Given the description of an element on the screen output the (x, y) to click on. 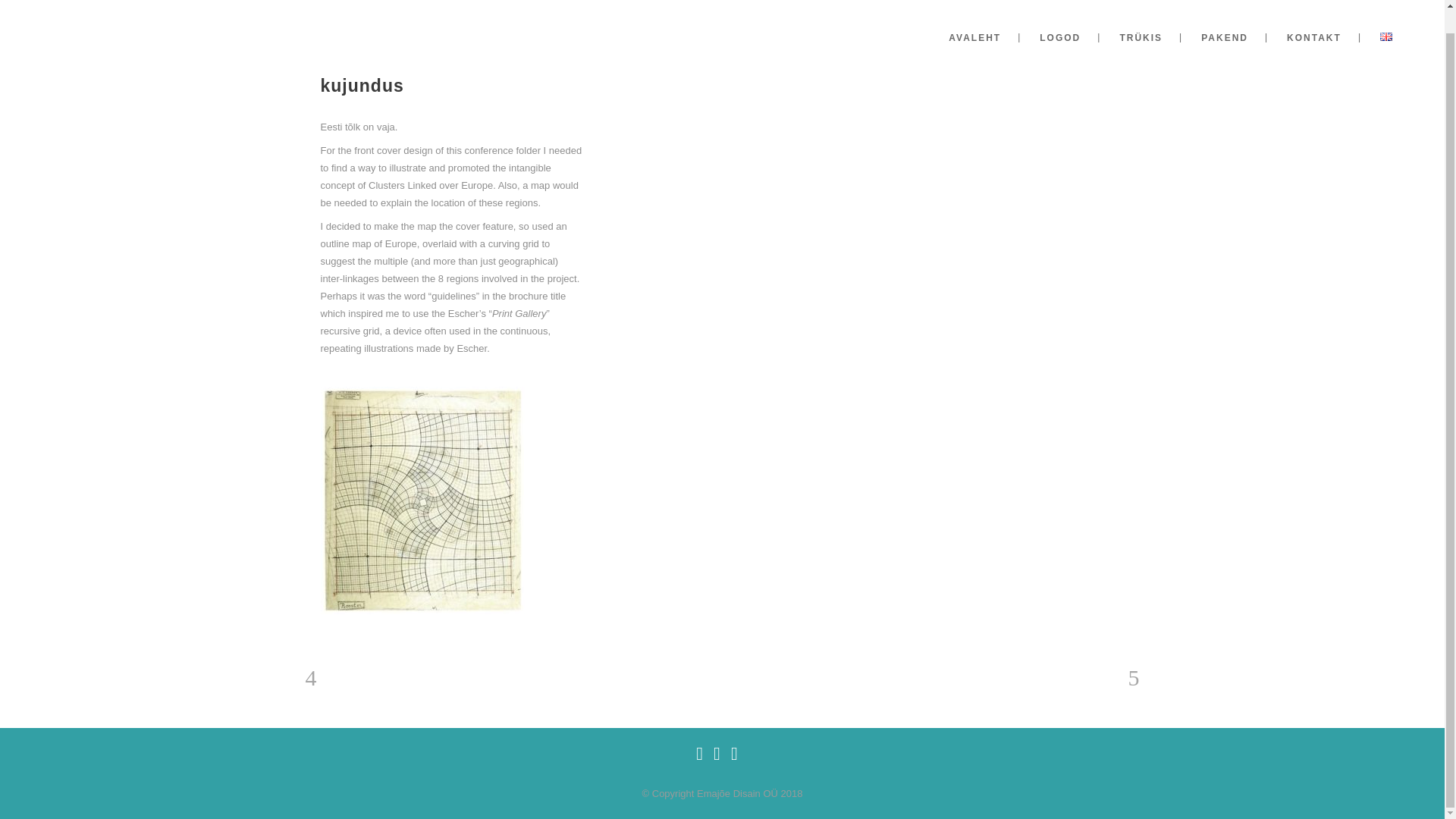
AVALEHT (974, 26)
LOGOD (1060, 26)
KONTAKT (1313, 26)
PAKEND (1224, 26)
